Given the description of an element on the screen output the (x, y) to click on. 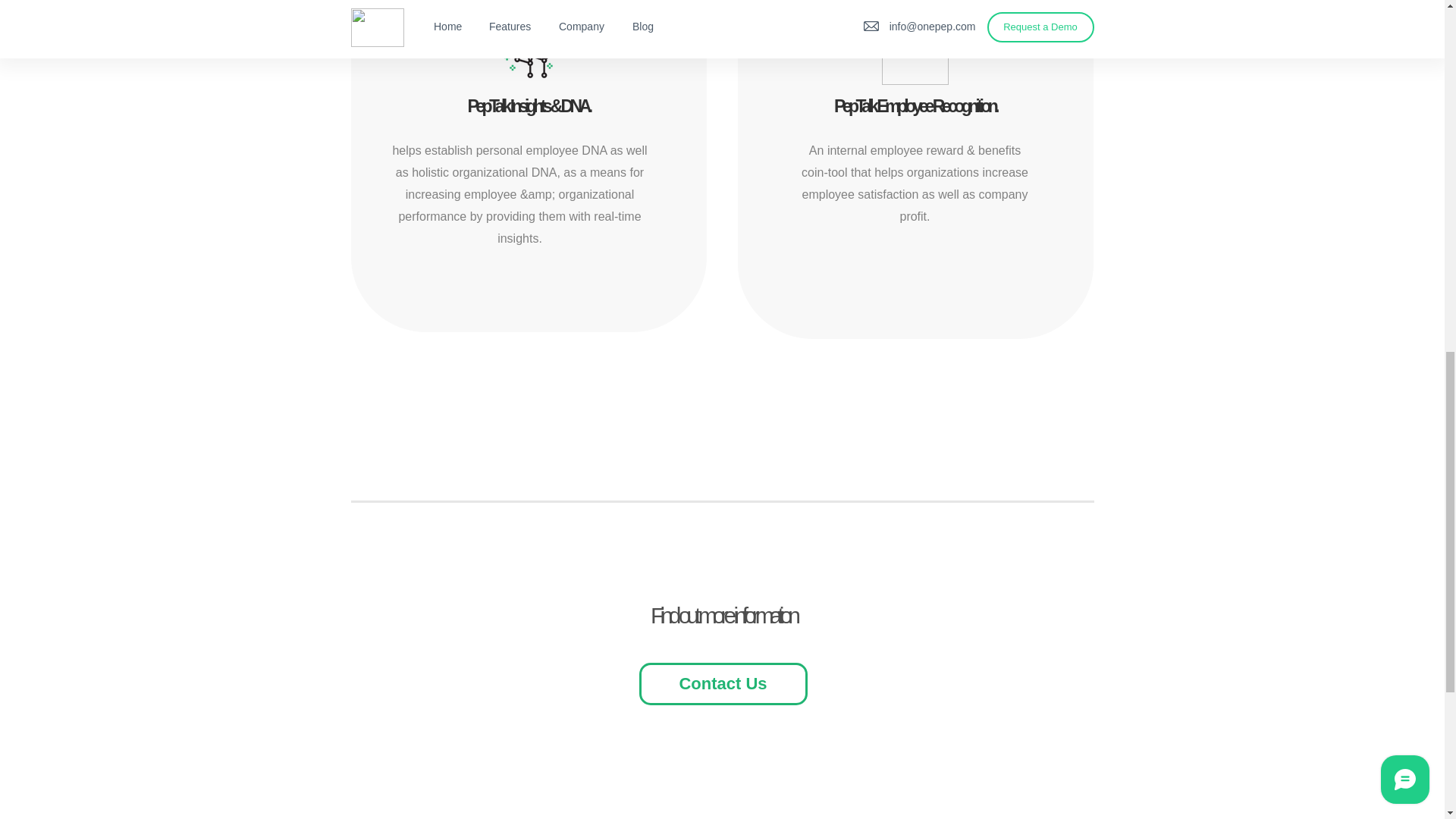
Contact Us (722, 683)
